Given the description of an element on the screen output the (x, y) to click on. 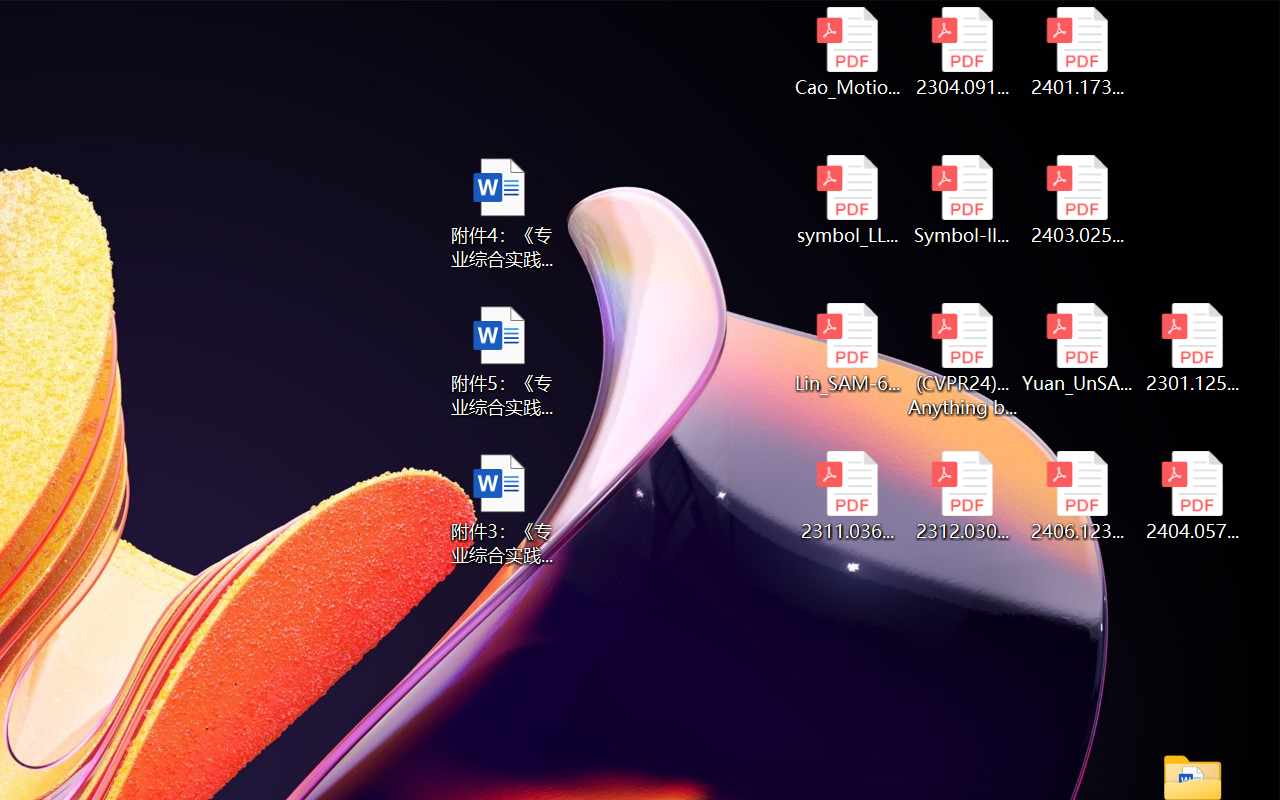
2304.09121v3.pdf (962, 52)
2401.17399v1.pdf (1077, 52)
2312.03032v2.pdf (962, 496)
2404.05719v1.pdf (1192, 496)
(CVPR24)Matching Anything by Segmenting Anything.pdf (962, 360)
2301.12597v3.pdf (1192, 348)
2406.12373v2.pdf (1077, 496)
Symbol-llm-v2.pdf (962, 200)
2403.02502v1.pdf (1077, 200)
2311.03658v2.pdf (846, 496)
